Given the description of an element on the screen output the (x, y) to click on. 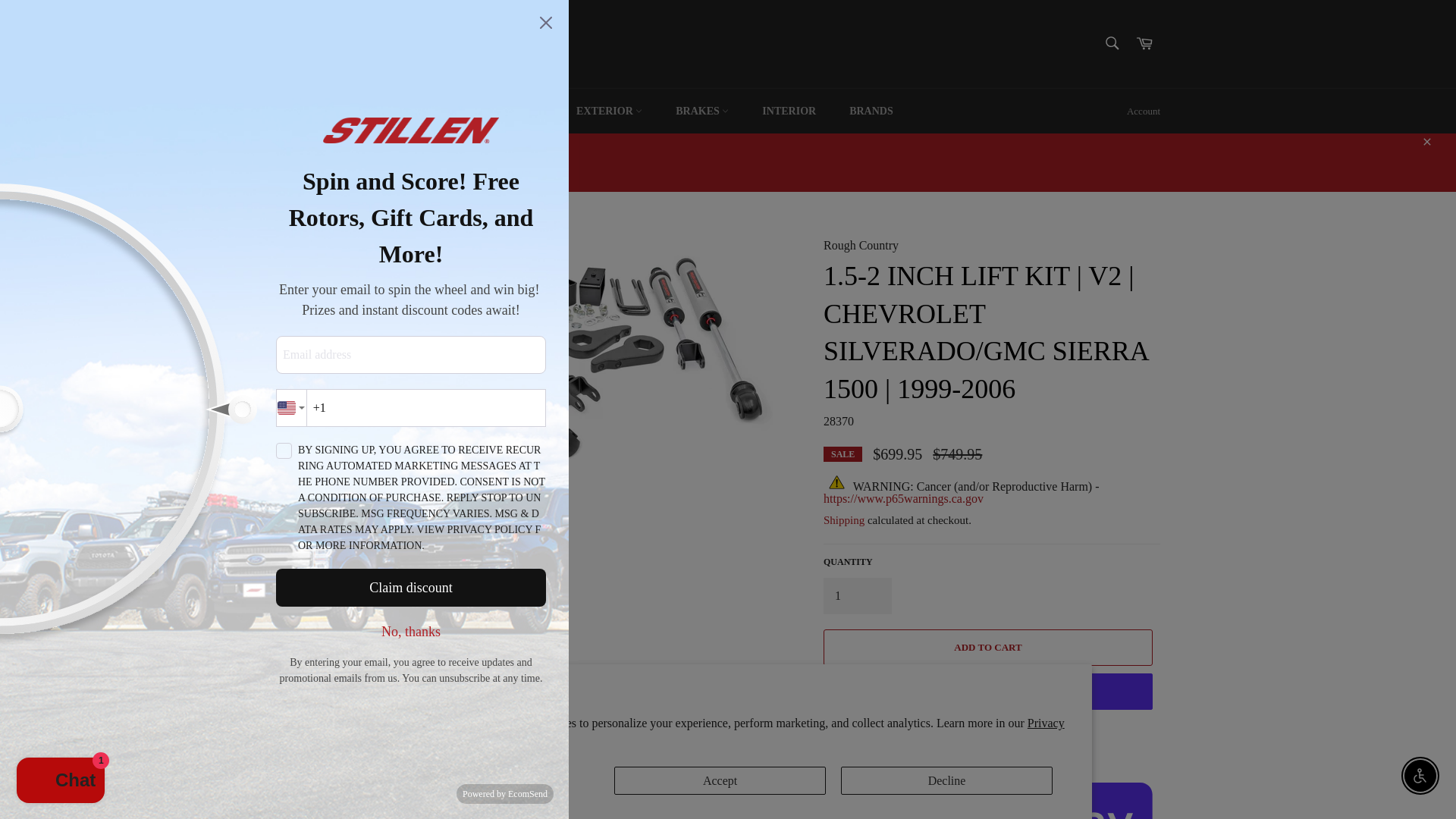
ENGINE PERFORMANCE (364, 110)
EXTERIOR (609, 110)
Manage preferences (493, 780)
Decline (946, 780)
BRAKES (702, 110)
Cart (1144, 44)
1 (857, 596)
Privacy Policy. (726, 730)
Search (1111, 42)
Accept (719, 780)
SUSPENSION (504, 110)
Powered by EcomSend (505, 793)
